Given the description of an element on the screen output the (x, y) to click on. 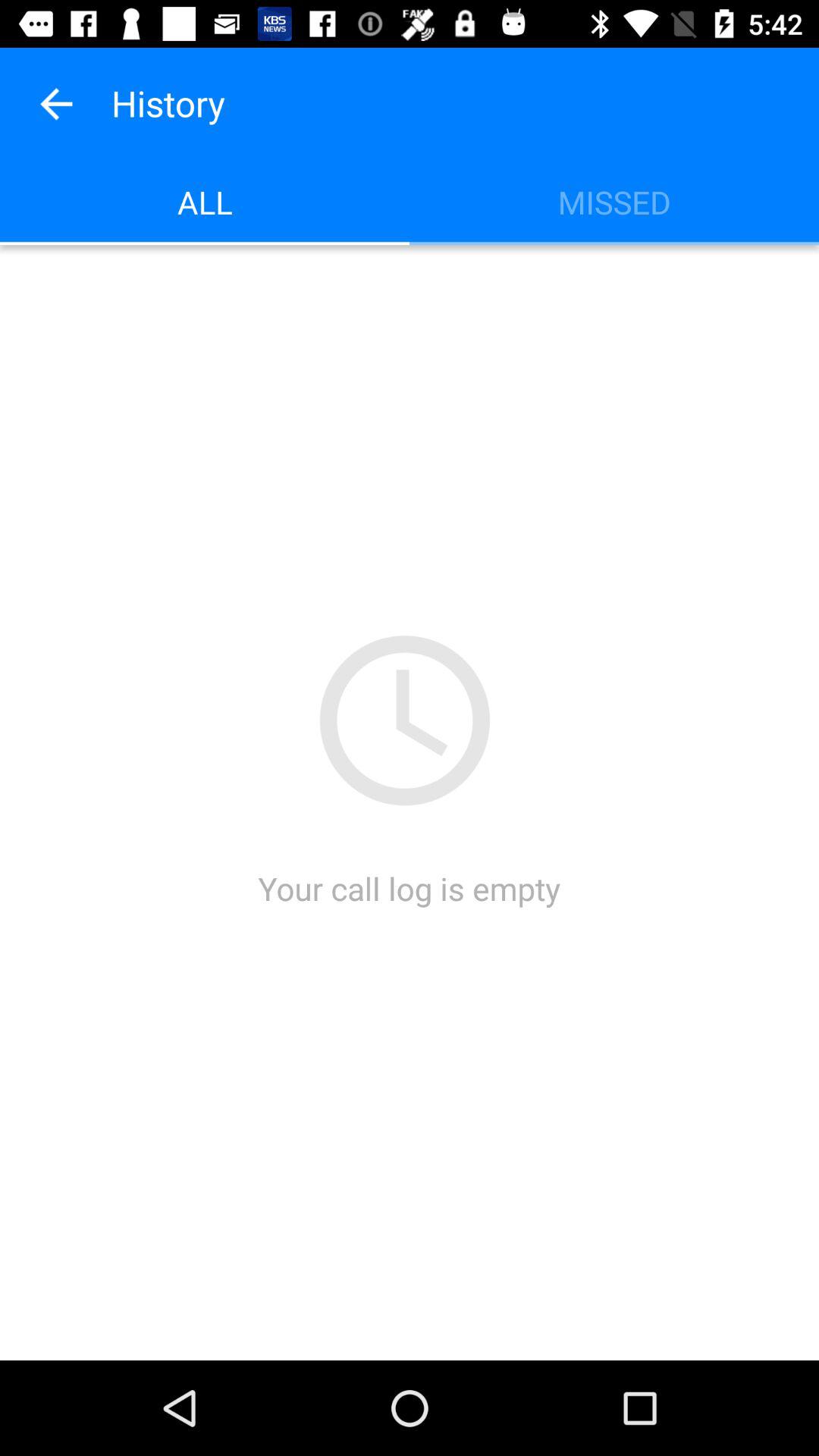
jump to the missed icon (614, 202)
